Given the description of an element on the screen output the (x, y) to click on. 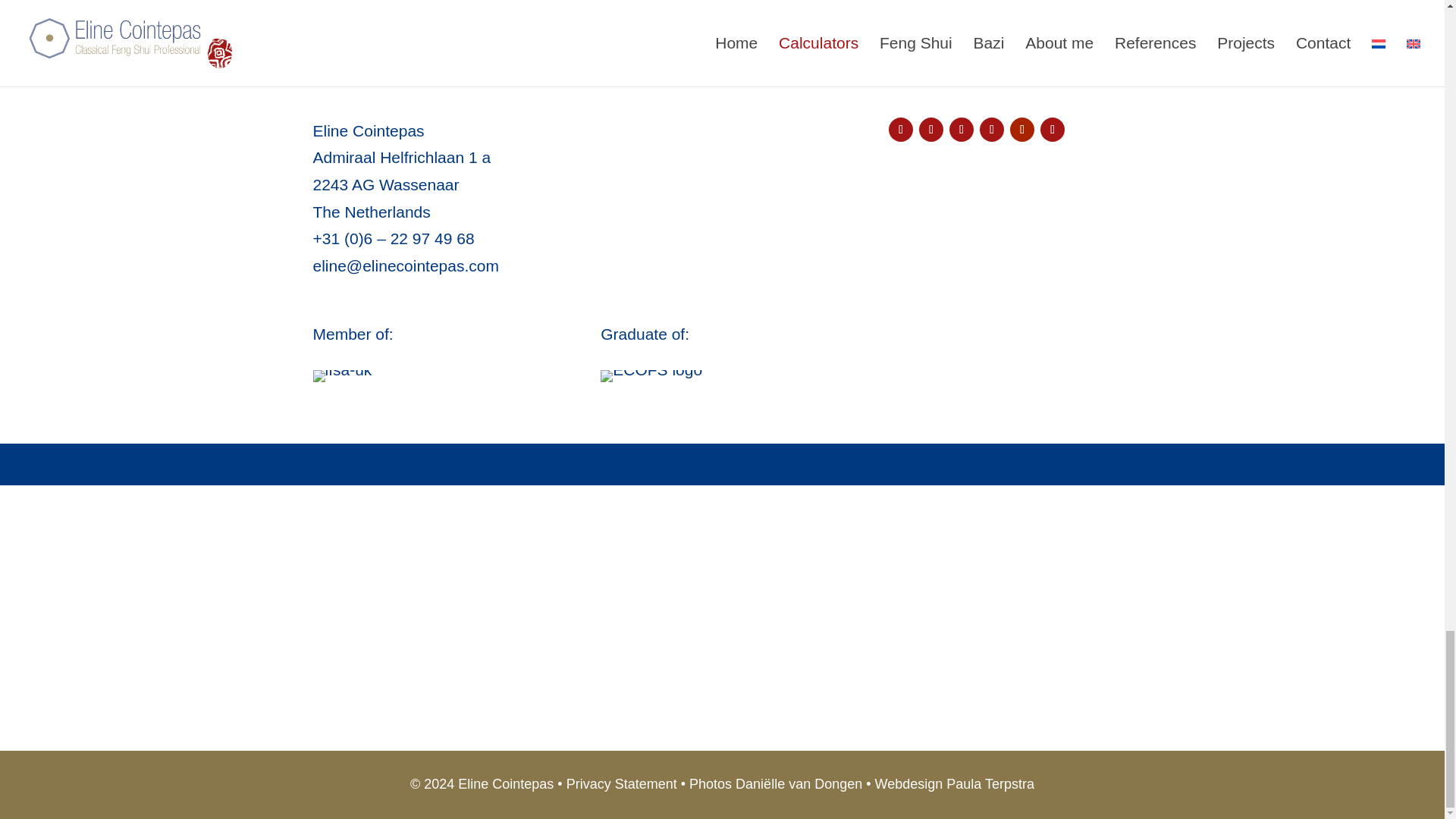
Follow on Facebook (1052, 129)
Follow on Youtube (1021, 129)
Follow on Pinterest (961, 129)
Follow on Instagram (900, 129)
Follow on Spotify (991, 129)
Webdesign Paula Terpstra (954, 783)
Privacy Statement (621, 783)
Follow on LinkedIn (930, 129)
